Given the description of an element on the screen output the (x, y) to click on. 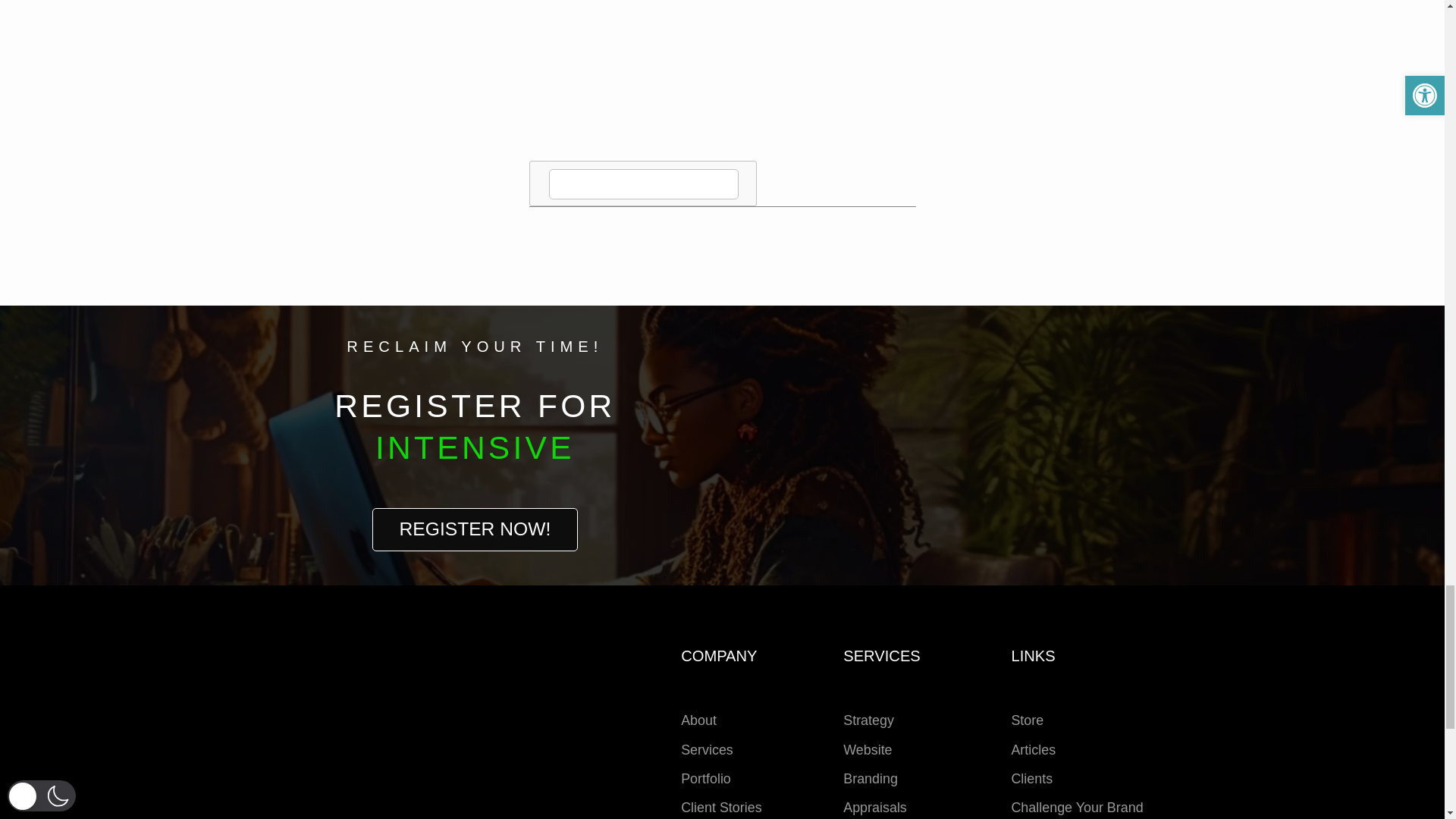
REGISTER NOW! (475, 529)
RECLAIM YOUR TIME! (915, 755)
REGISTER NOW! (474, 361)
LINKS (751, 755)
REGISTER FOR INTENSIVE (475, 521)
SERVICES (1080, 661)
COMPANY (474, 437)
